Given the description of an element on the screen output the (x, y) to click on. 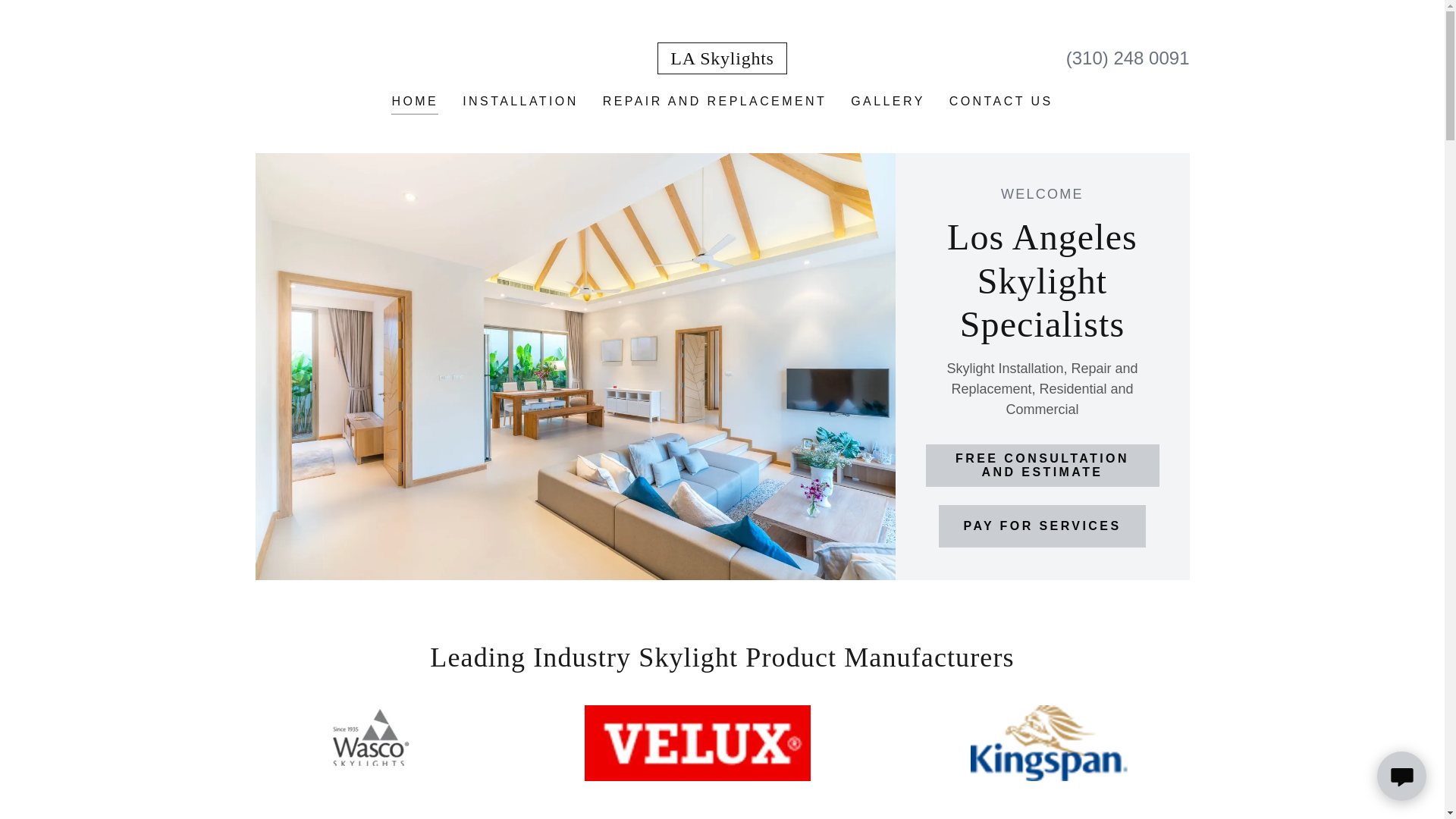
GALLERY (887, 101)
HOME (414, 103)
CONTACT US (1001, 101)
PAY FOR SERVICES (1041, 526)
LA Skylights (722, 59)
REPAIR AND REPLACEMENT (714, 101)
LA Skylights (722, 59)
FREE CONSULTATION AND ESTIMATE (1041, 465)
INSTALLATION (520, 101)
